Given the description of an element on the screen output the (x, y) to click on. 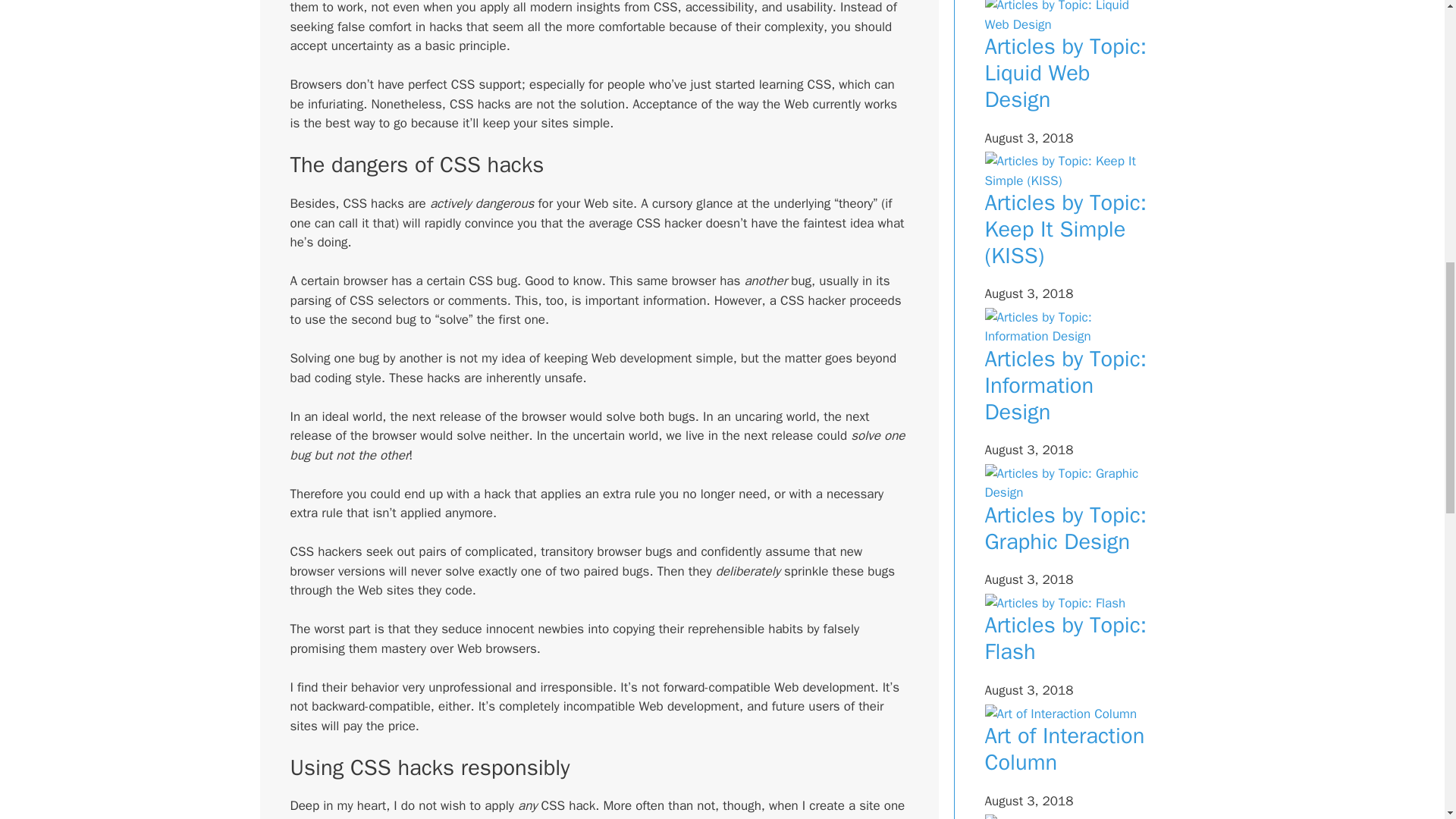
Articles by Topic: Information Design (1065, 384)
Articles by Topic: Liquid Web Design (1065, 72)
Articles by Topic: Graphic Design (1065, 528)
